Given the description of an element on the screen output the (x, y) to click on. 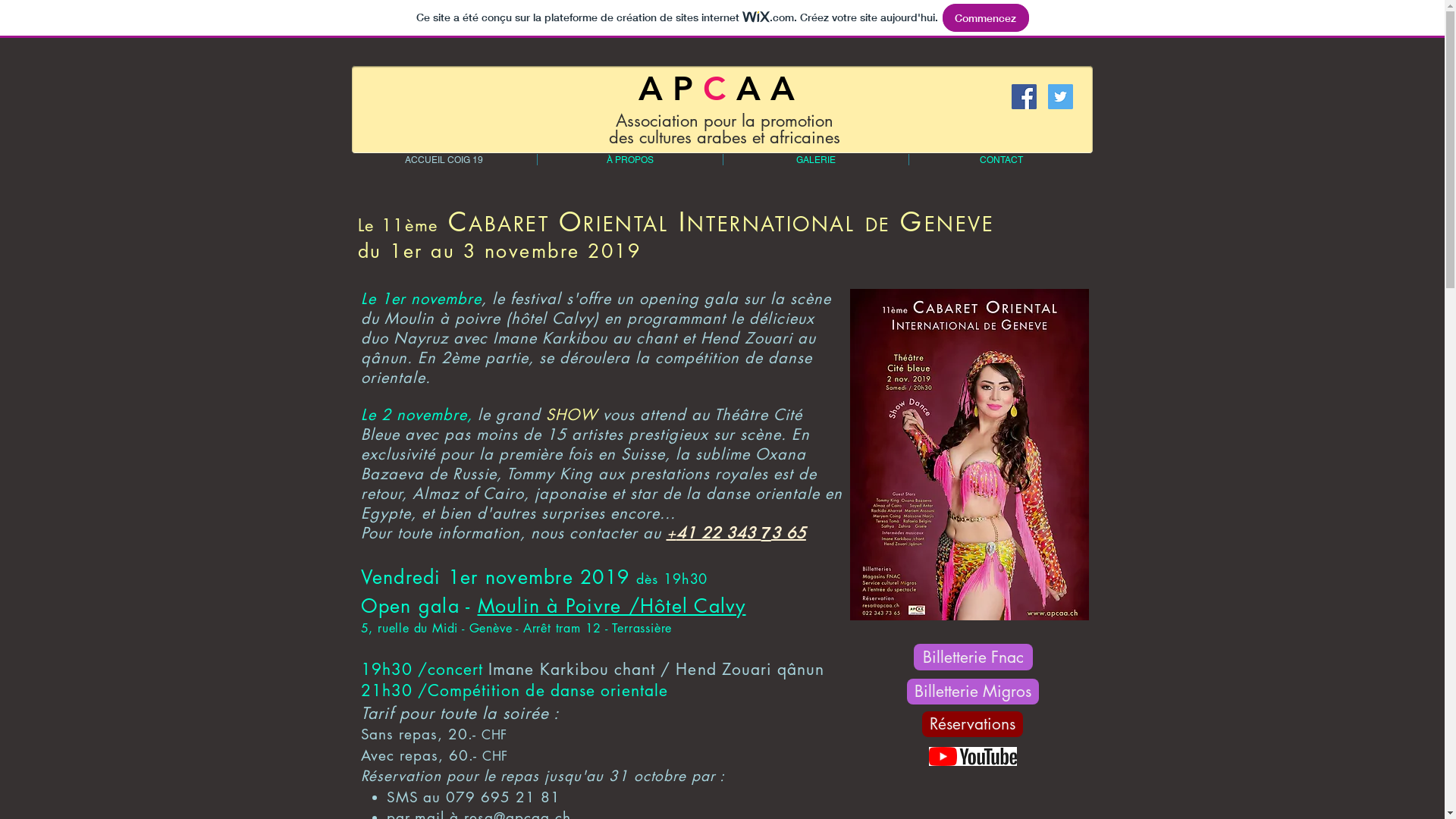
Association pour la promotion Element type: text (724, 120)
GALERIE Element type: text (815, 159)
APCAA Element type: text (721, 88)
3 65 Element type: text (788, 532)
CONTACT Element type: text (1000, 159)
des cultures arabes et africaines Element type: text (724, 136)
Billetterie Fnac Element type: text (972, 656)
+41 22 343 Element type: text (712, 532)
Billetterie Migros Element type: text (972, 691)
ACCUEIL COIG 19 Element type: text (443, 159)
7 Element type: text (766, 532)
